Given the description of an element on the screen output the (x, y) to click on. 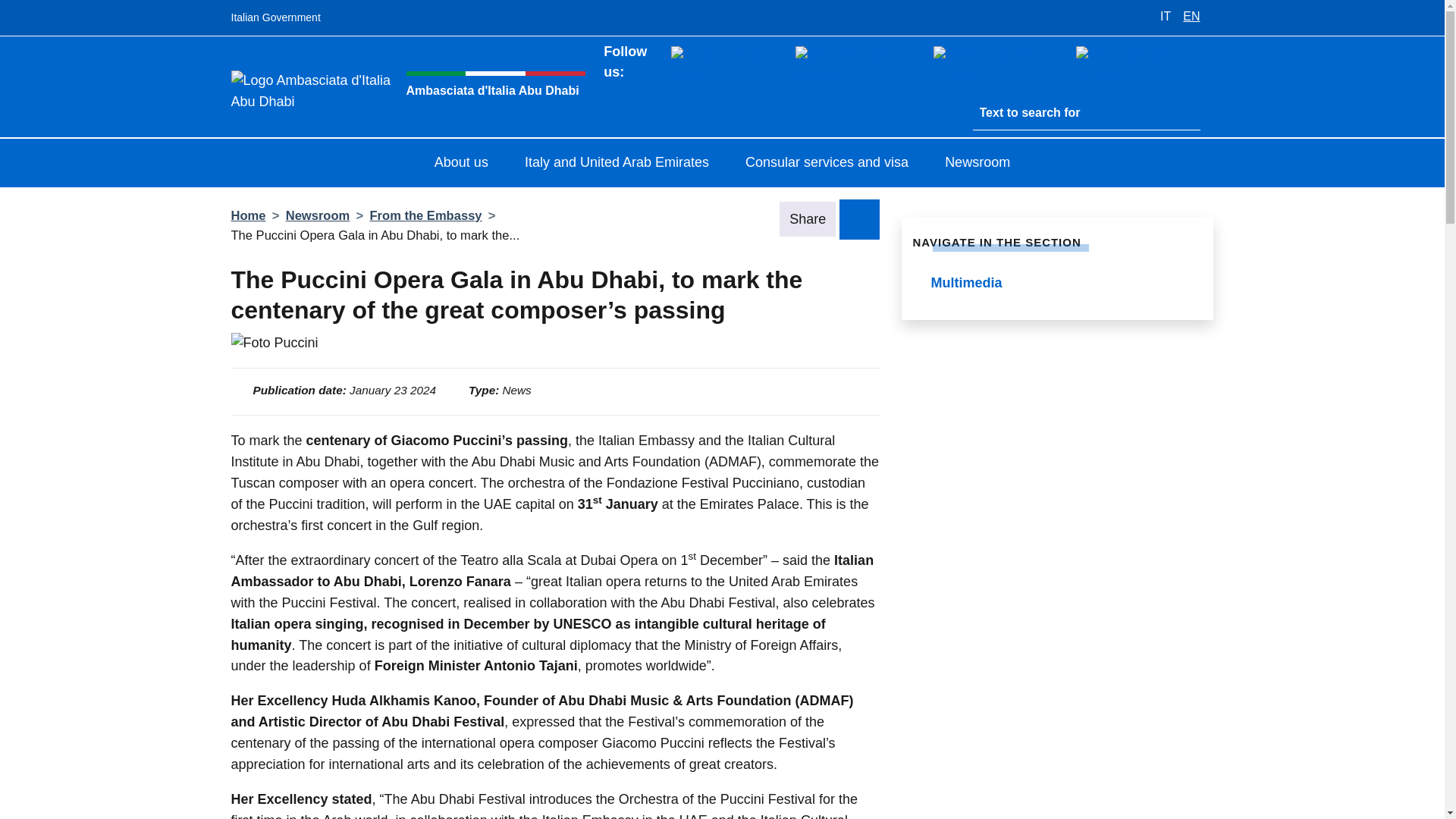
Multimedia (1057, 282)
Newsroom (976, 163)
Newsroom (317, 215)
Consular services and visa (826, 163)
Italian Government (275, 18)
About us (461, 163)
Share on Social Network (859, 218)
Home (247, 215)
From the Embassy (425, 215)
